Given the description of an element on the screen output the (x, y) to click on. 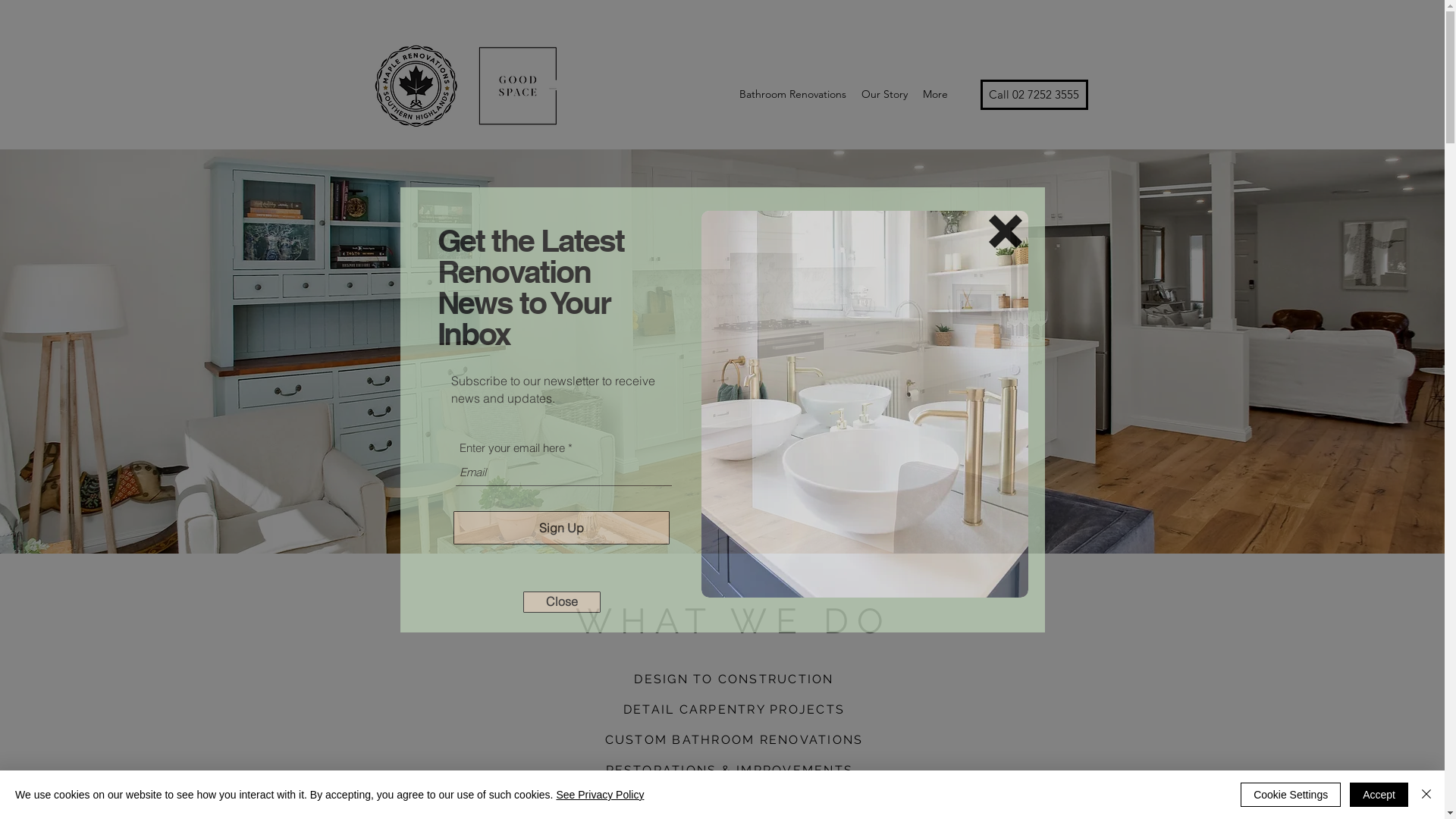
Untitled design (30).png Element type: hover (468, 91)
Back to site Element type: hover (1004, 230)
Embedded Content Element type: hover (123, 762)
Cookie Settings Element type: text (1290, 794)
See Privacy Policy Element type: text (599, 794)
Bathroom Renovations Element type: text (792, 94)
Call 02 7252 3555 Element type: text (1033, 94)
Accept Element type: text (1378, 794)
Our Story Element type: text (884, 94)
Sign Up Element type: text (561, 527)
